Given the description of an element on the screen output the (x, y) to click on. 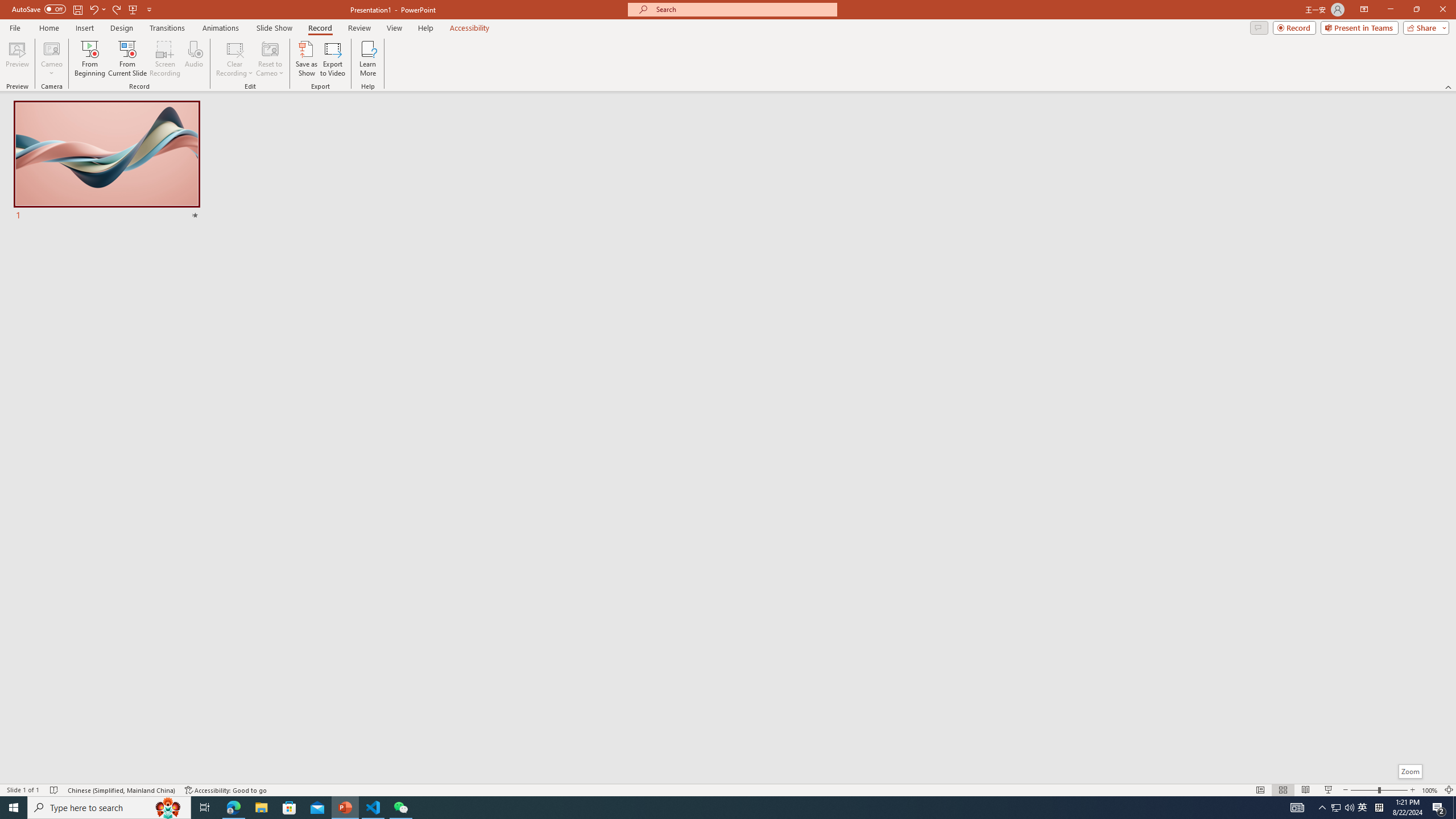
Screen Recording (165, 58)
From Beginning... (89, 58)
Preview (17, 58)
Save as Show (306, 58)
